Given the description of an element on the screen output the (x, y) to click on. 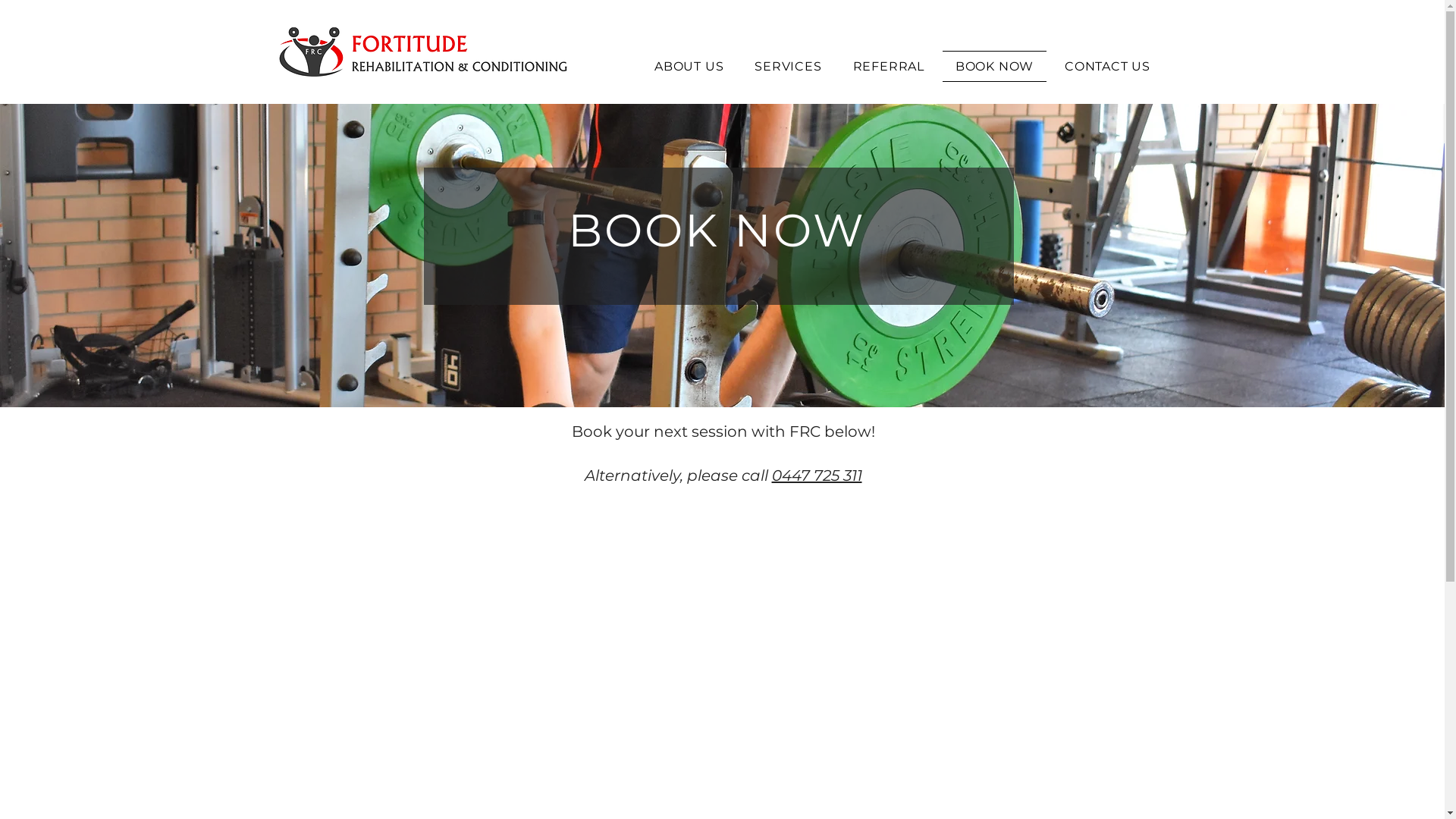
0447 725 311 Element type: text (816, 475)
REFERRAL Element type: text (888, 65)
BOOK NOW Element type: text (993, 65)
CONTACT US Element type: text (1107, 65)
ABOUT US Element type: text (688, 65)
SERVICES Element type: text (788, 65)
